Given the description of an element on the screen output the (x, y) to click on. 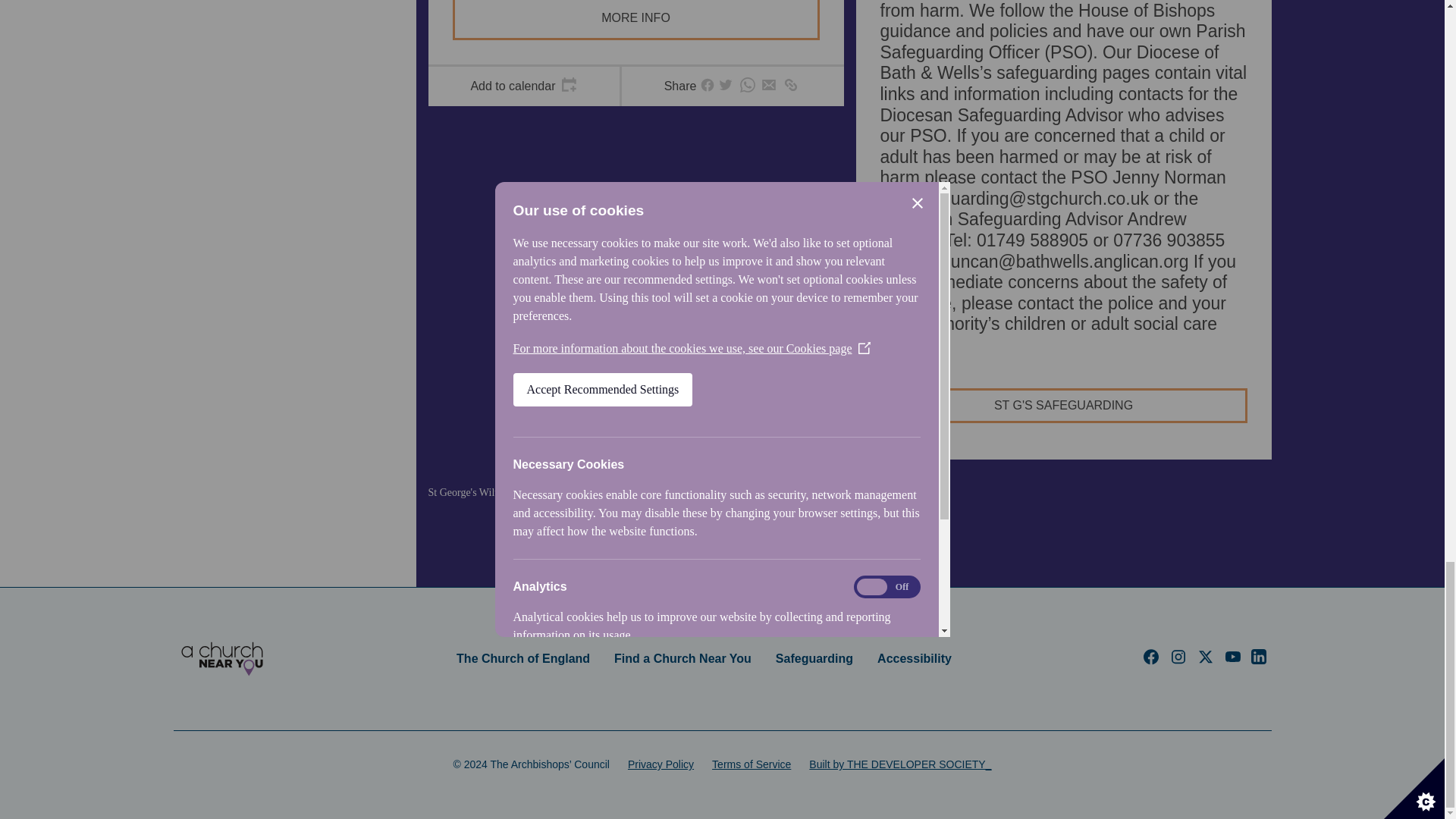
ACNY home (221, 658)
